Given the description of an element on the screen output the (x, y) to click on. 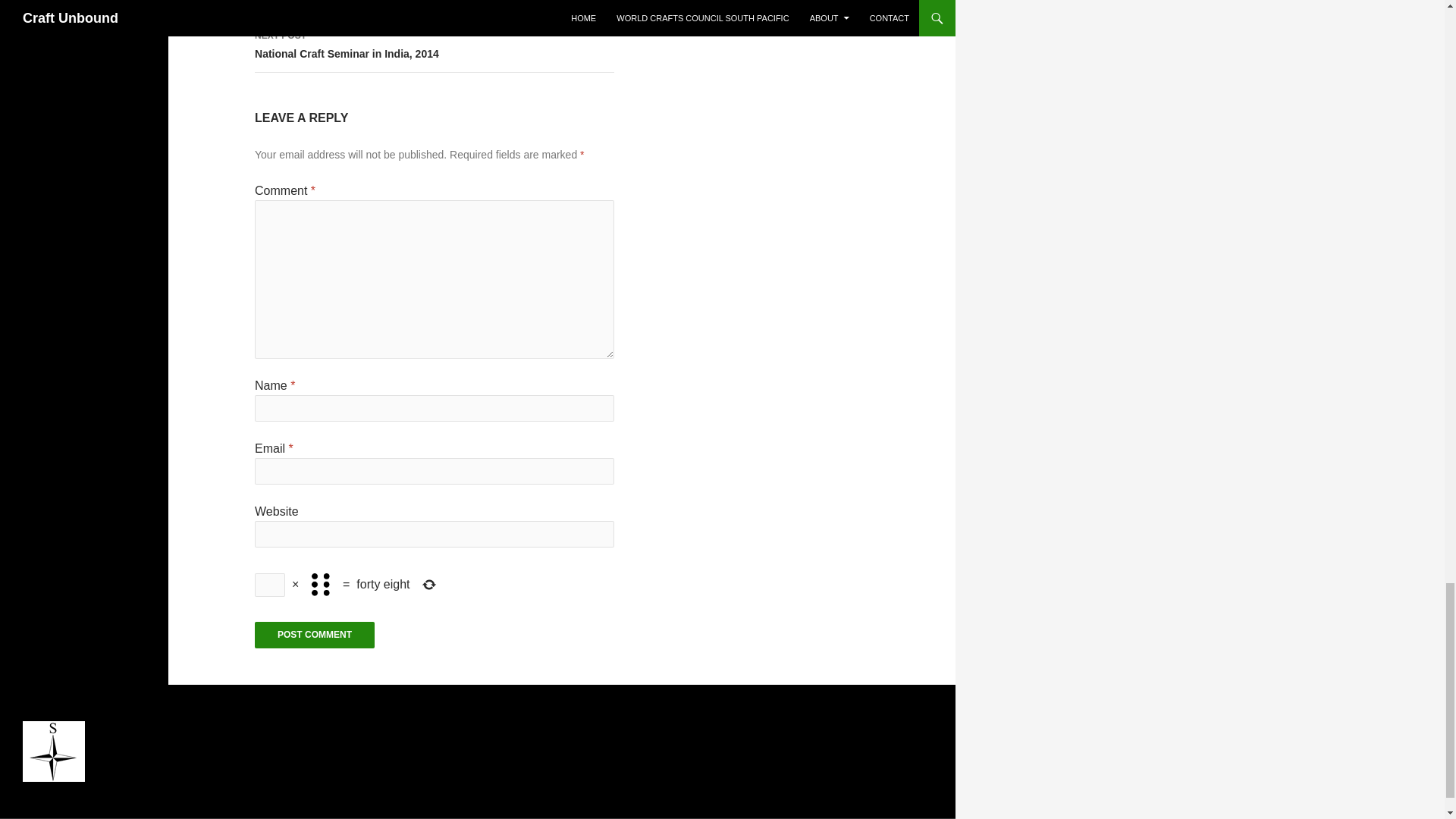
Post Comment (434, 45)
Post Comment (434, 9)
